Given the description of an element on the screen output the (x, y) to click on. 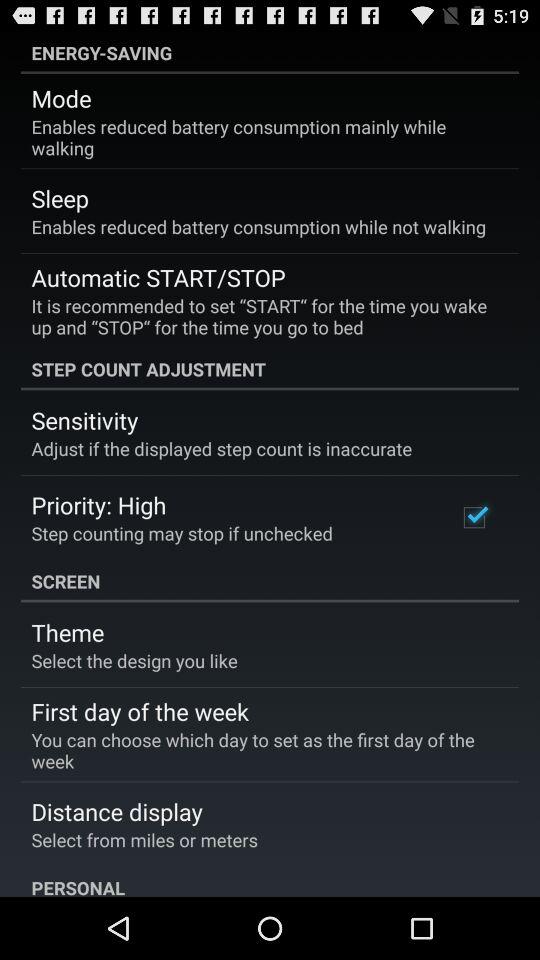
launch the icon to the right of the step counting may icon (474, 517)
